Given the description of an element on the screen output the (x, y) to click on. 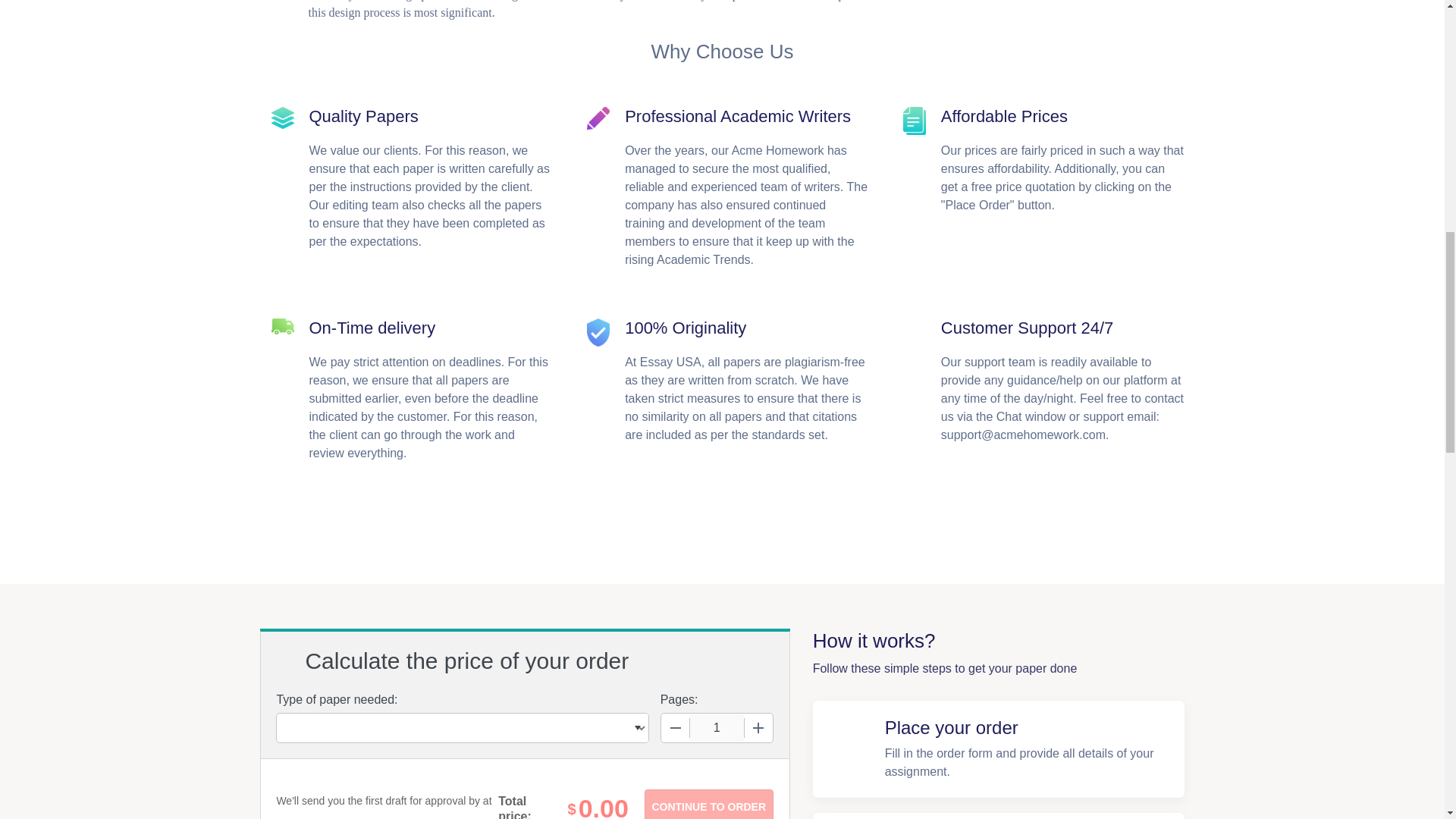
Decrease (675, 727)
Continue to order (709, 804)
Continue to Order (709, 804)
1 (717, 727)
Increase (758, 727)
Continue to order (709, 804)
